Given the description of an element on the screen output the (x, y) to click on. 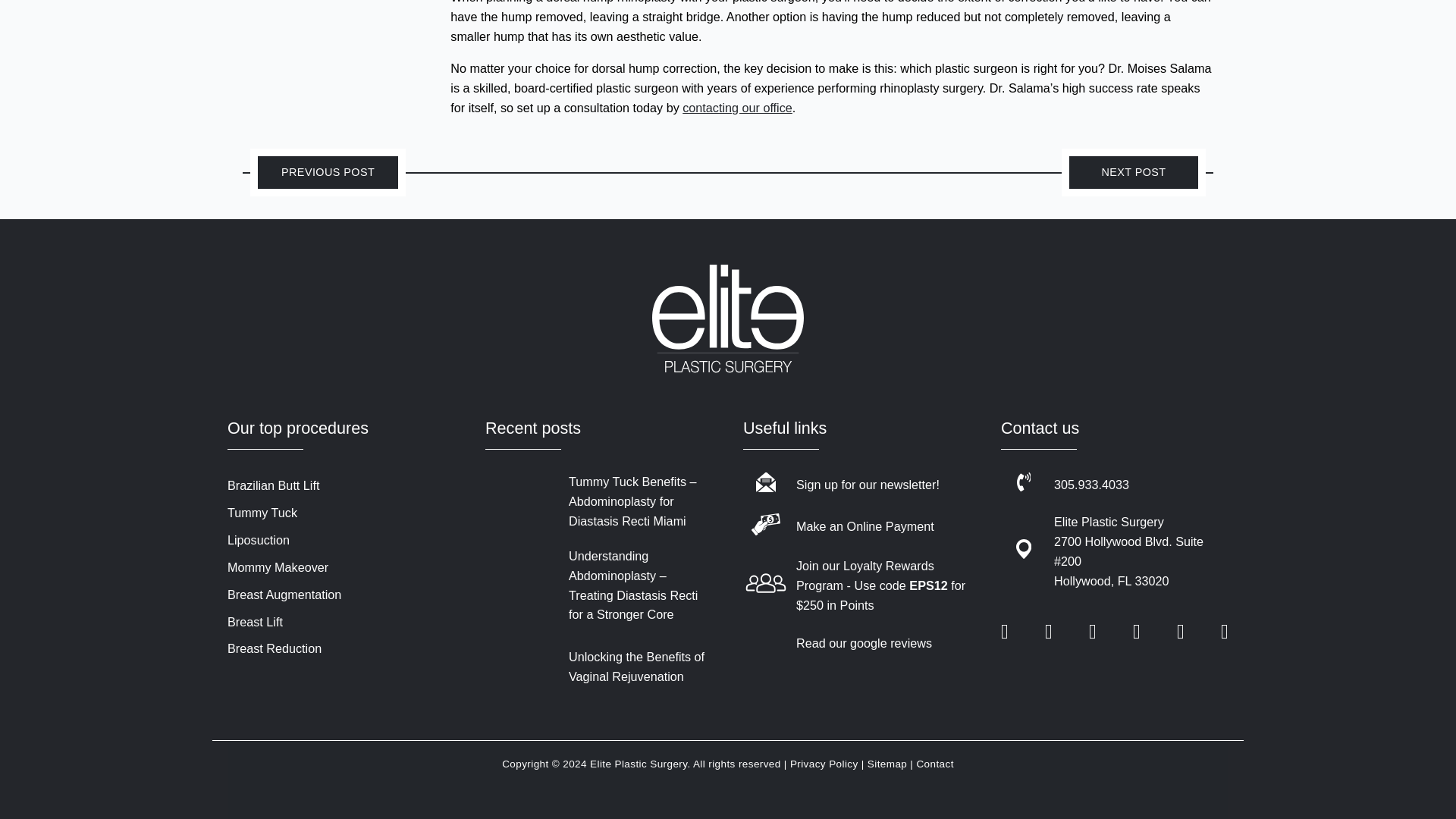
Sitemap (887, 763)
Contact (934, 763)
